Given the description of an element on the screen output the (x, y) to click on. 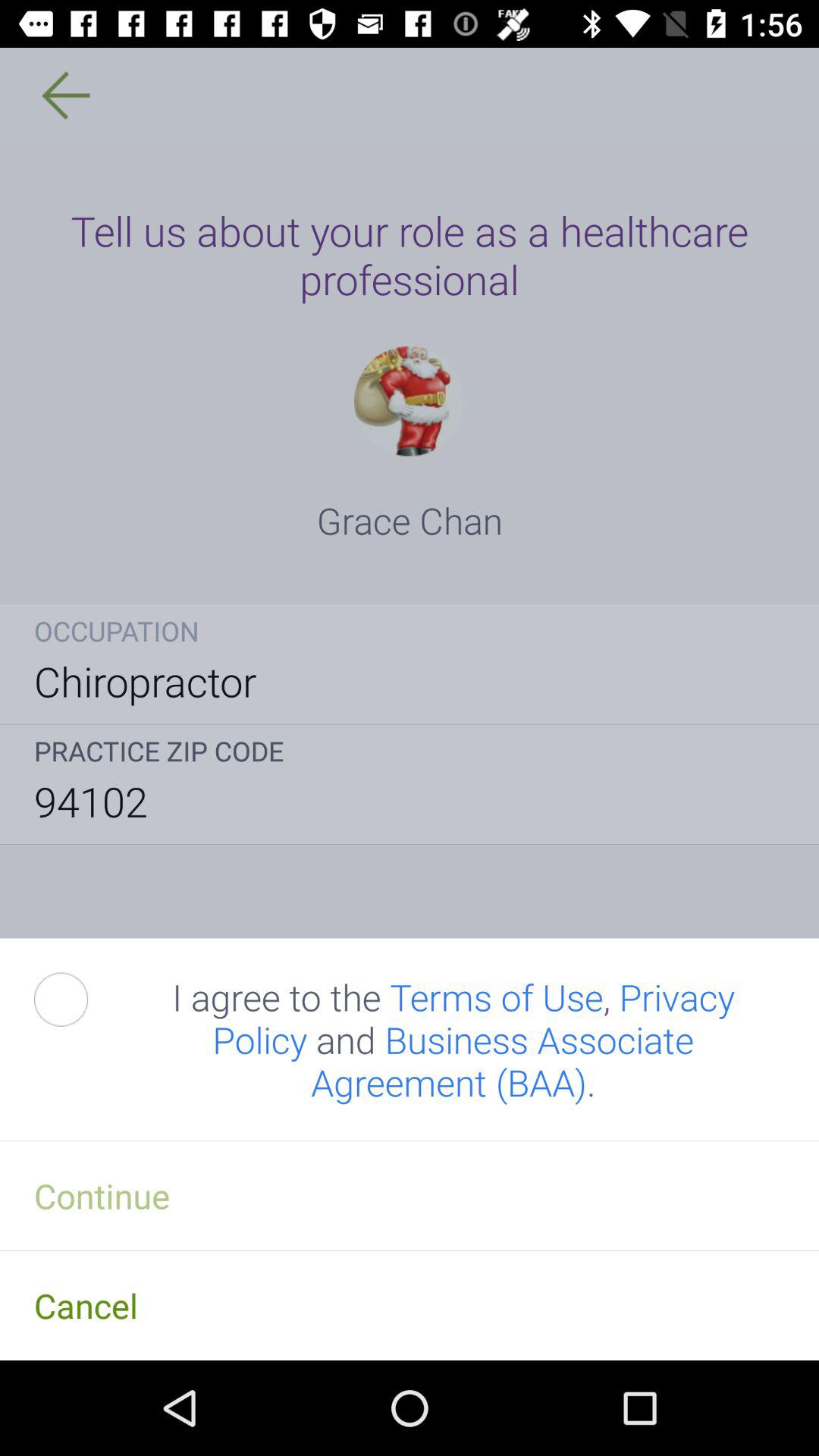
select the continue item (409, 1195)
